Given the description of an element on the screen output the (x, y) to click on. 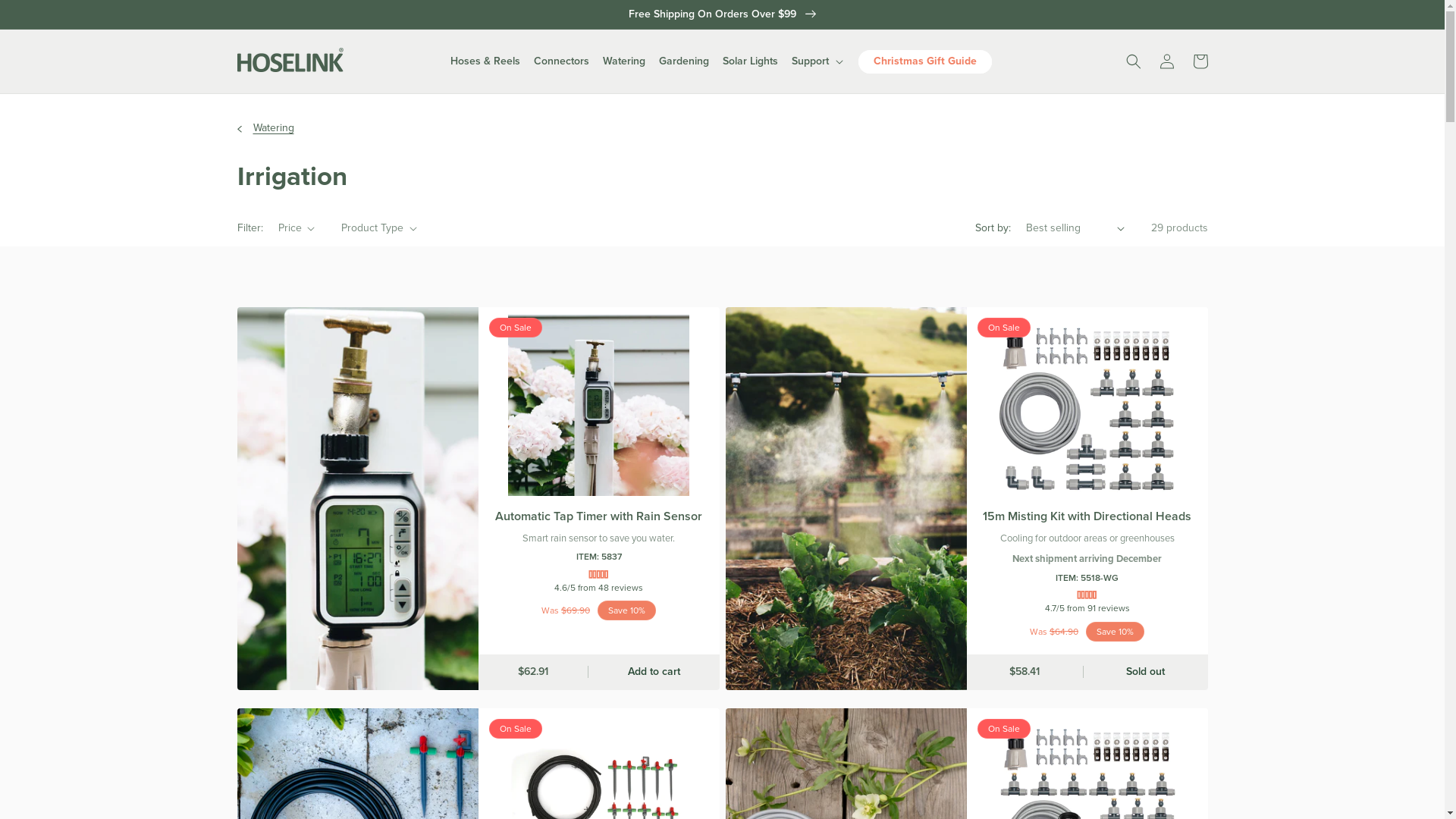
Automatic Tap Timer with Rain Sensor Element type: text (598, 516)
Free Shipping On Orders Over $99 Element type: text (722, 14)
Sold out Element type: text (1145, 672)
Connectors Element type: text (561, 61)
Add to cart Element type: text (653, 672)
Watering Element type: text (273, 129)
Watering Element type: text (624, 61)
Gardening Element type: text (683, 61)
Christmas Gift Guide Element type: text (924, 61)
Log in Element type: text (1166, 61)
Cart Element type: text (1199, 61)
15m Misting Kit with Directional Heads Element type: text (1086, 516)
Solar Lights Element type: text (749, 61)
Hoses & Reels Element type: text (485, 61)
